Given the description of an element on the screen output the (x, y) to click on. 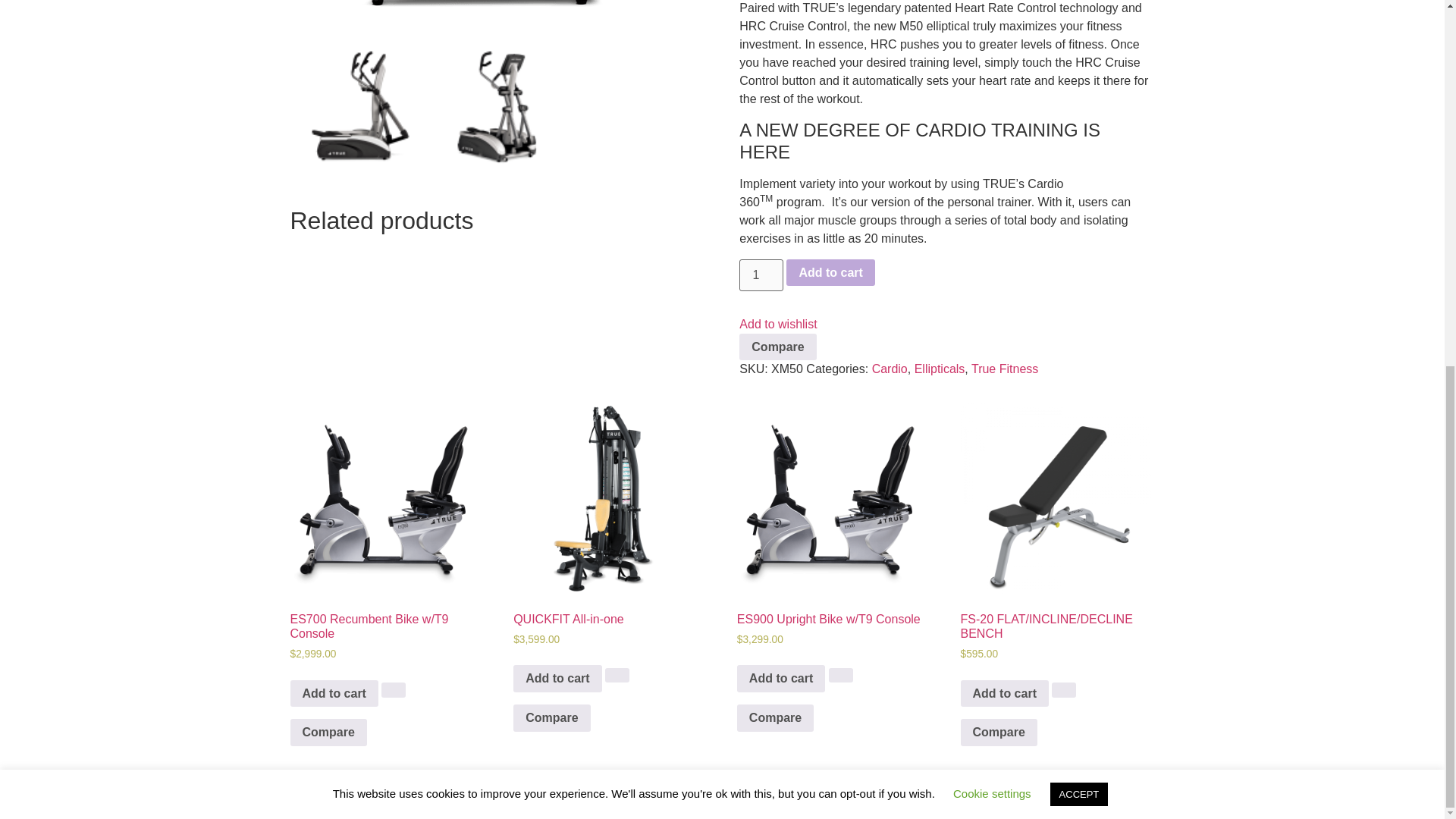
Add to cart (1004, 693)
ACCEPT (1078, 136)
1 (761, 275)
Compare (777, 347)
Add to cart (333, 693)
Cardio (889, 368)
Add to cart (557, 678)
Compare (551, 718)
Compare (998, 732)
Compare (774, 718)
Add to wishlist (777, 323)
Add to cart (780, 678)
Add to cart (830, 272)
Compare (327, 732)
Ellipticals (939, 368)
